Given the description of an element on the screen output the (x, y) to click on. 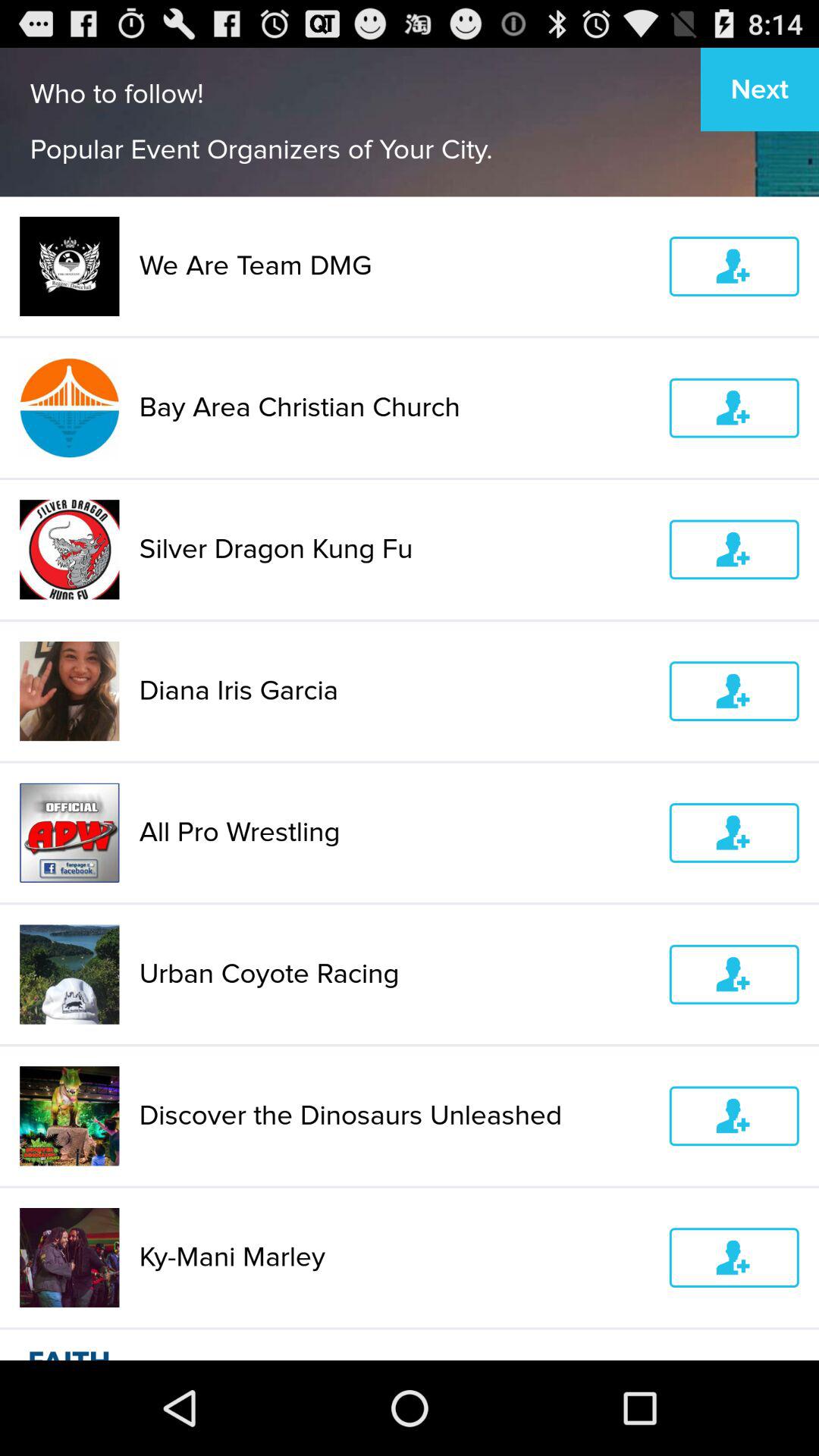
turn on the item above discover the dinosaurs app (394, 973)
